Given the description of an element on the screen output the (x, y) to click on. 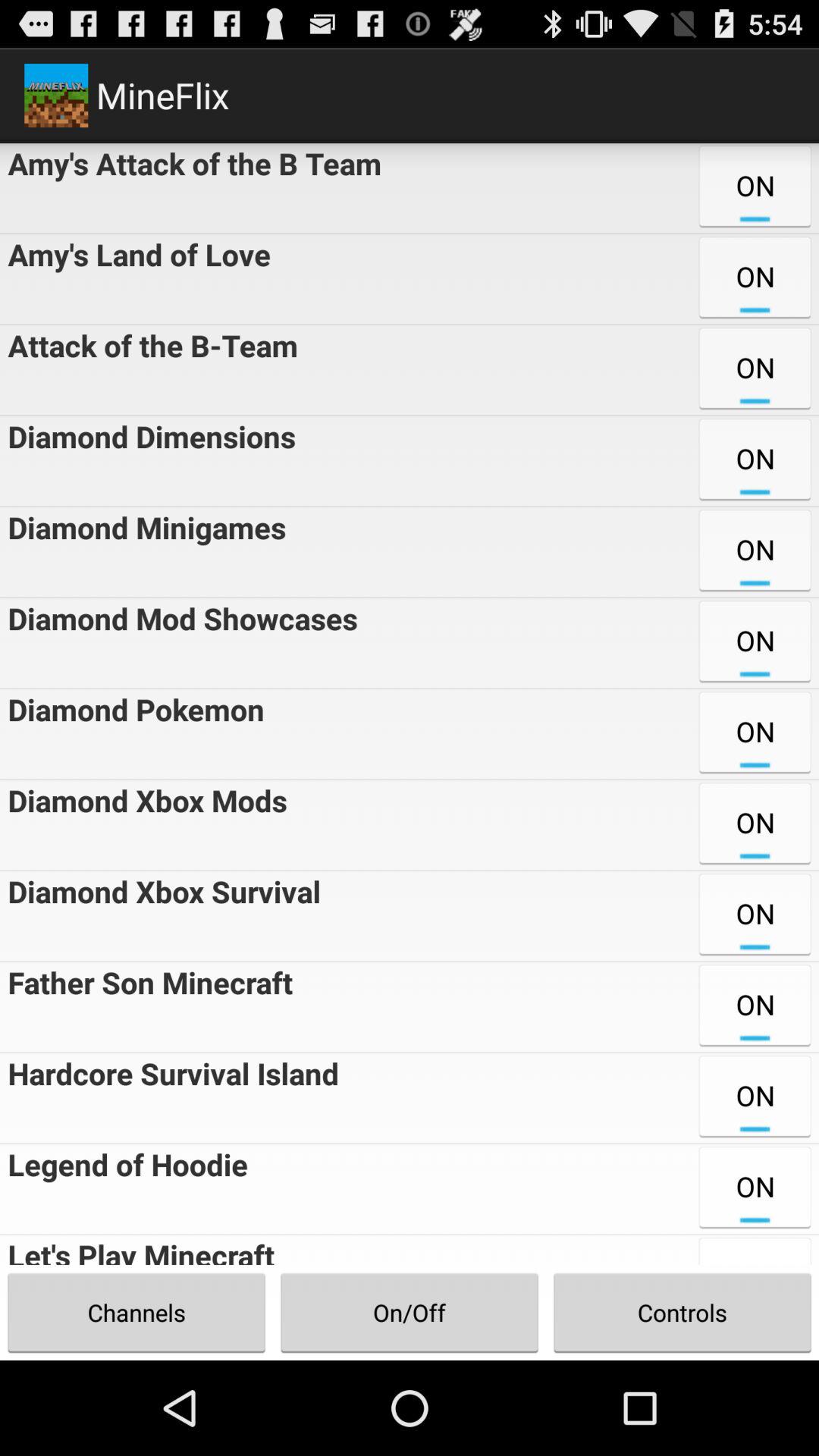
tap legend of hoodie item (123, 1189)
